Given the description of an element on the screen output the (x, y) to click on. 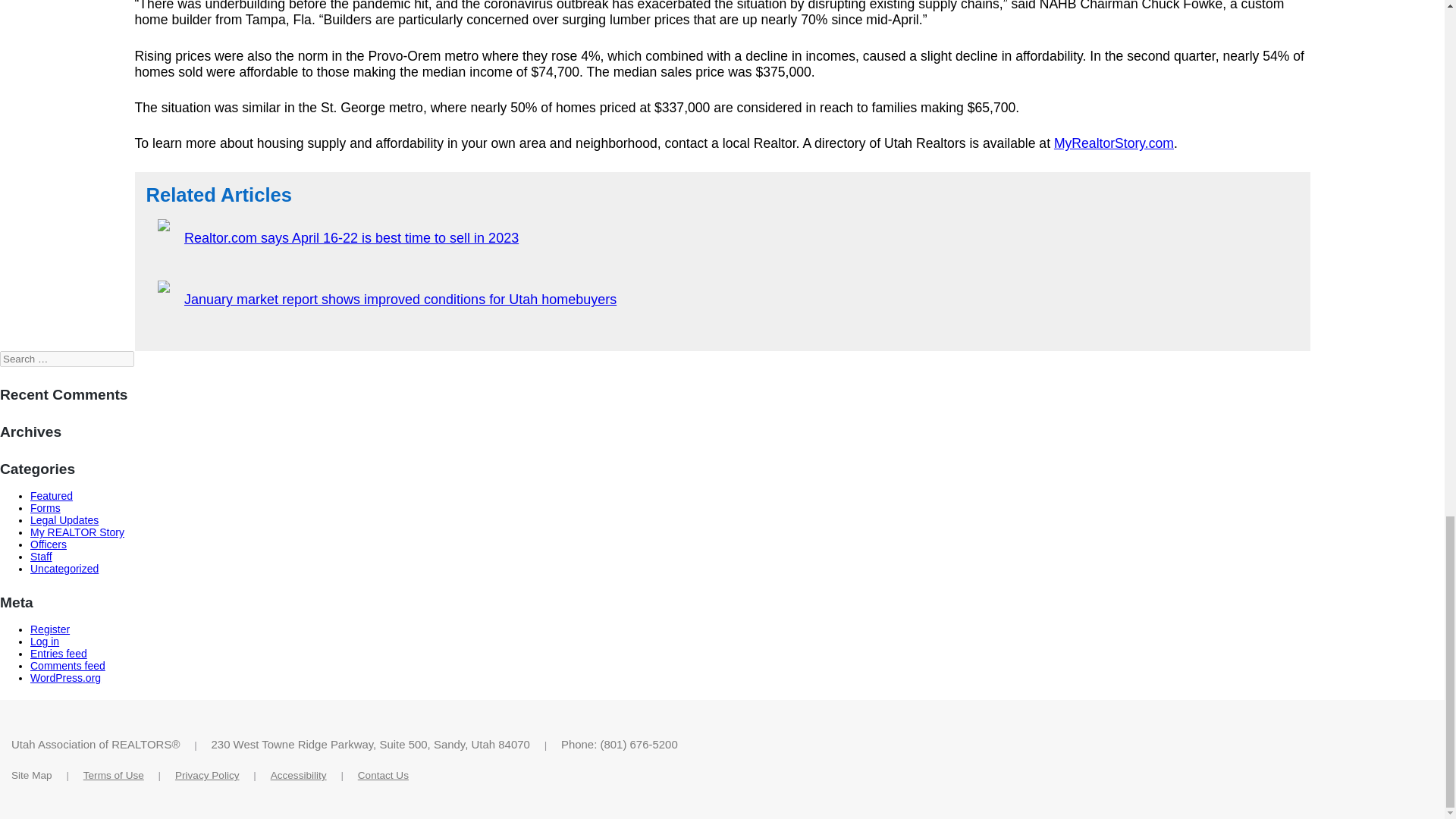
Featured (51, 495)
MyRealtorStory.com (1113, 142)
Search for: (66, 358)
Forms (45, 508)
Realtor.com says April 16-22 is best time to sell in 2023 (351, 237)
